Given the description of an element on the screen output the (x, y) to click on. 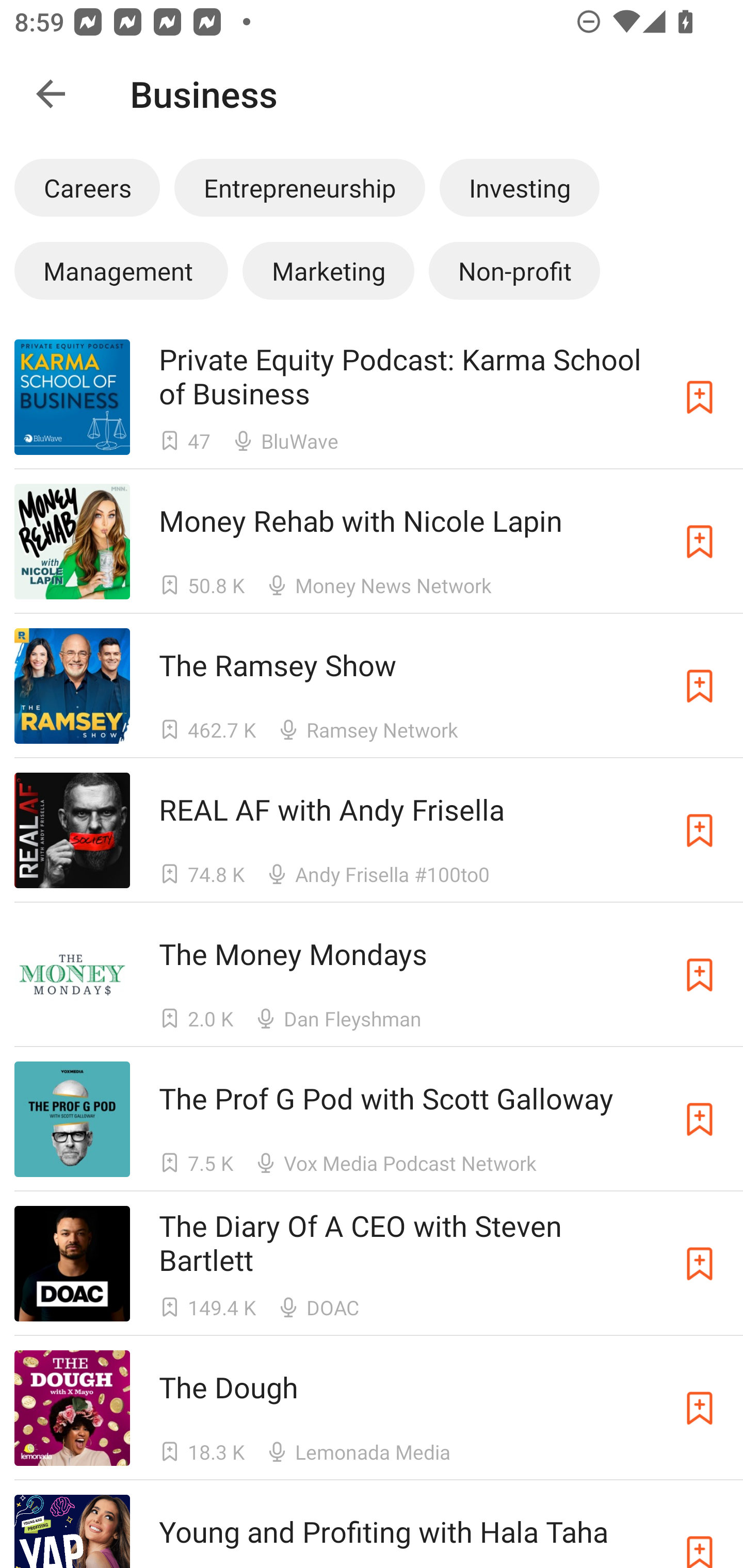
Navigate up (50, 93)
Careers (86, 187)
Entrepreneurship (299, 187)
Investing (519, 187)
Management  (121, 270)
Marketing (328, 270)
Non-profit (514, 270)
Subscribe (699, 396)
Subscribe (699, 541)
Subscribe (699, 685)
Subscribe (699, 830)
Subscribe (699, 975)
Subscribe (699, 1119)
Subscribe (699, 1263)
Subscribe (699, 1408)
Subscribe (699, 1531)
